Given the description of an element on the screen output the (x, y) to click on. 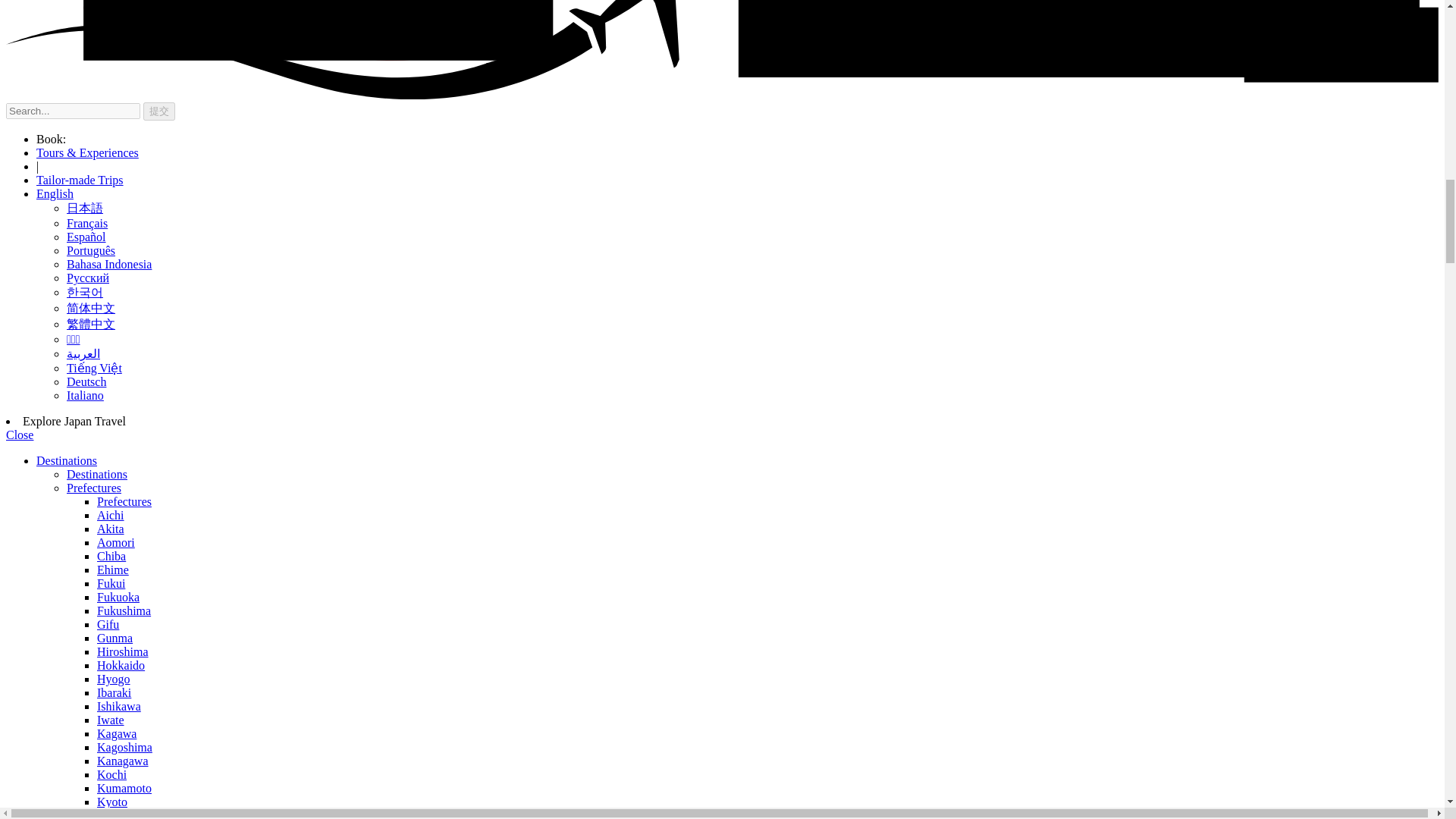
Fukuoka (118, 596)
Prefectures (93, 487)
Ehime (113, 569)
Aichi (110, 514)
Bahasa Indonesia (108, 264)
Fukushima (124, 610)
Chiba (111, 555)
Hiroshima (122, 651)
English (55, 193)
Close (19, 434)
